Given the description of an element on the screen output the (x, y) to click on. 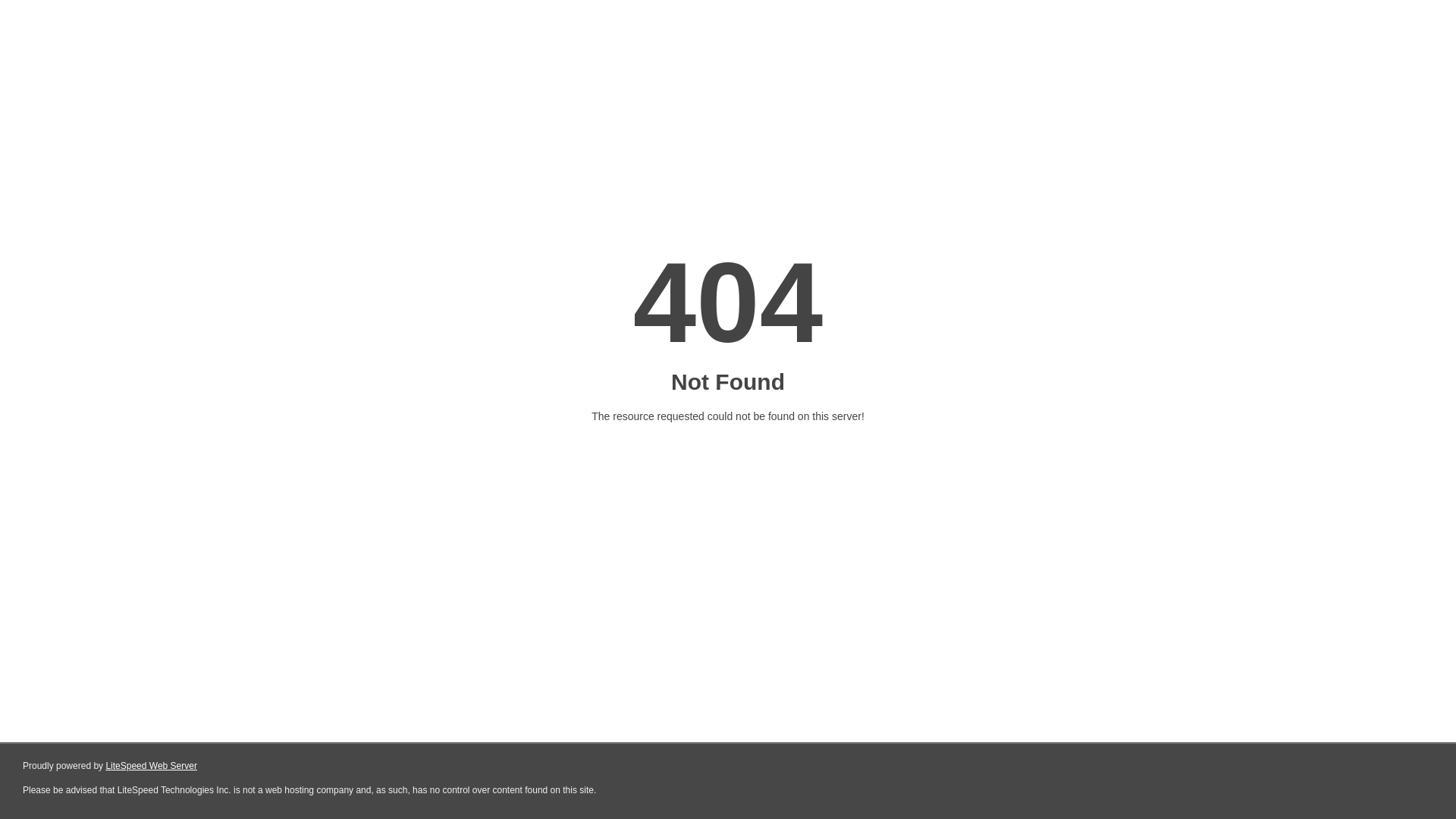
LiteSpeed Web Server Element type: text (151, 765)
